Given the description of an element on the screen output the (x, y) to click on. 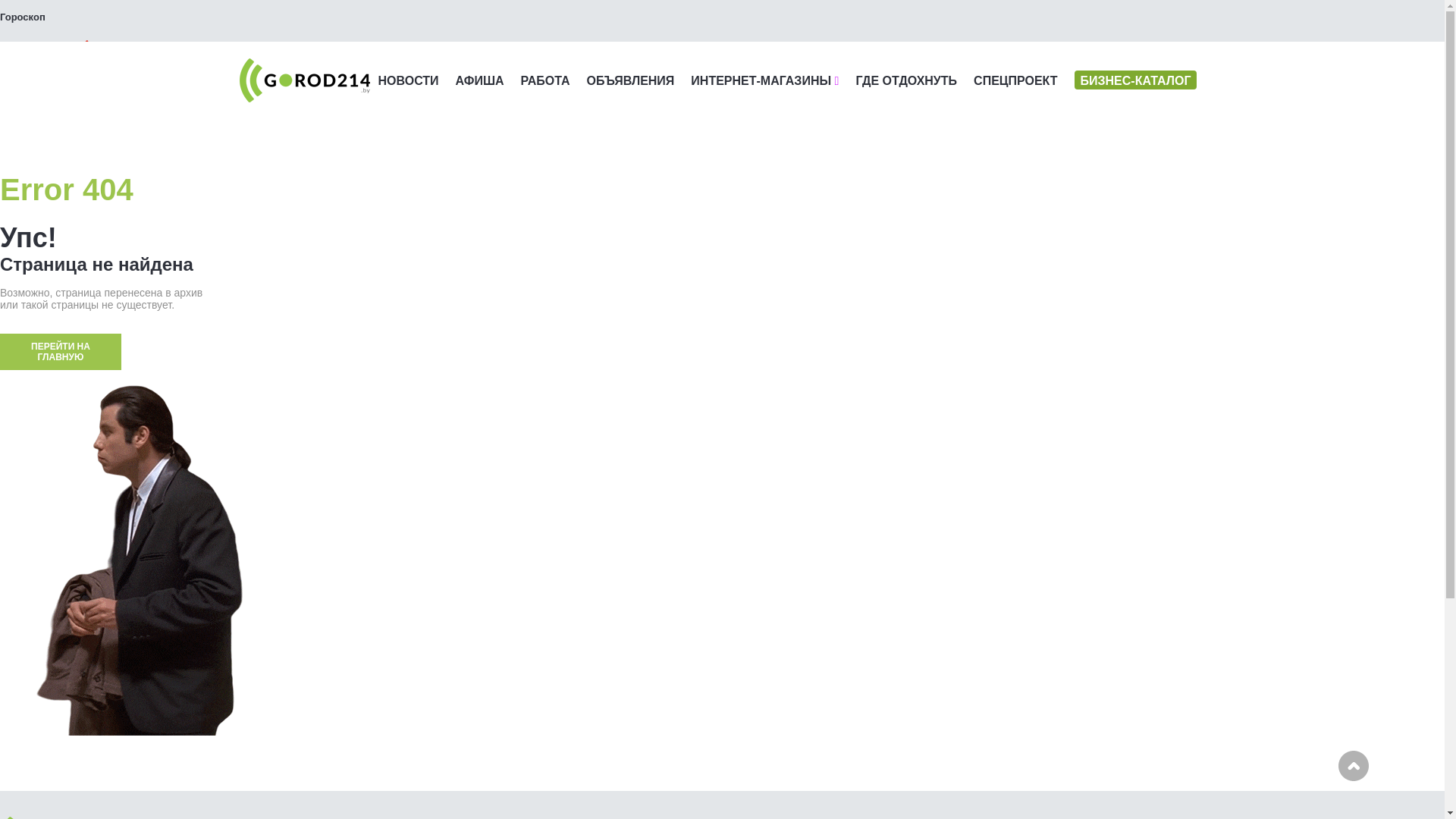
   Element type: text (49, 50)
